Given the description of an element on the screen output the (x, y) to click on. 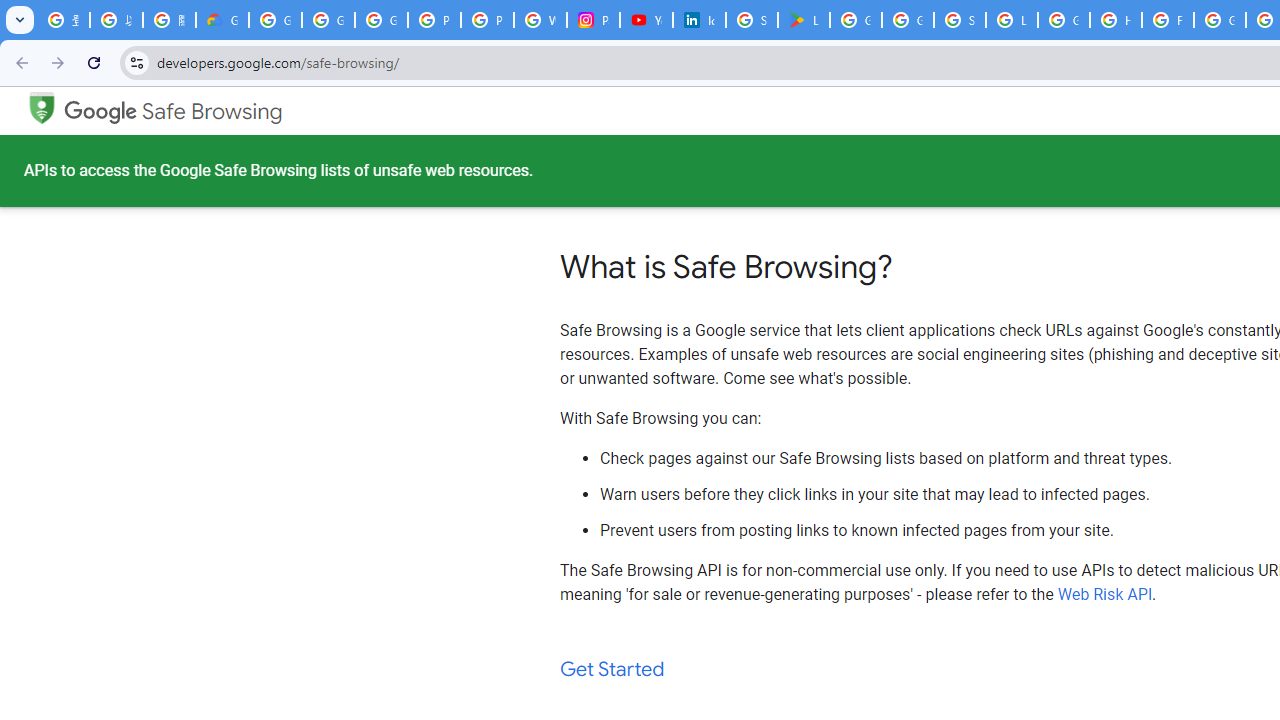
YouTube Culture & Trends - On The Rise: Handcam Videos (646, 20)
Sign in - Google Accounts (751, 20)
Sign in - Google Accounts (959, 20)
Google (101, 111)
